Given the description of an element on the screen output the (x, y) to click on. 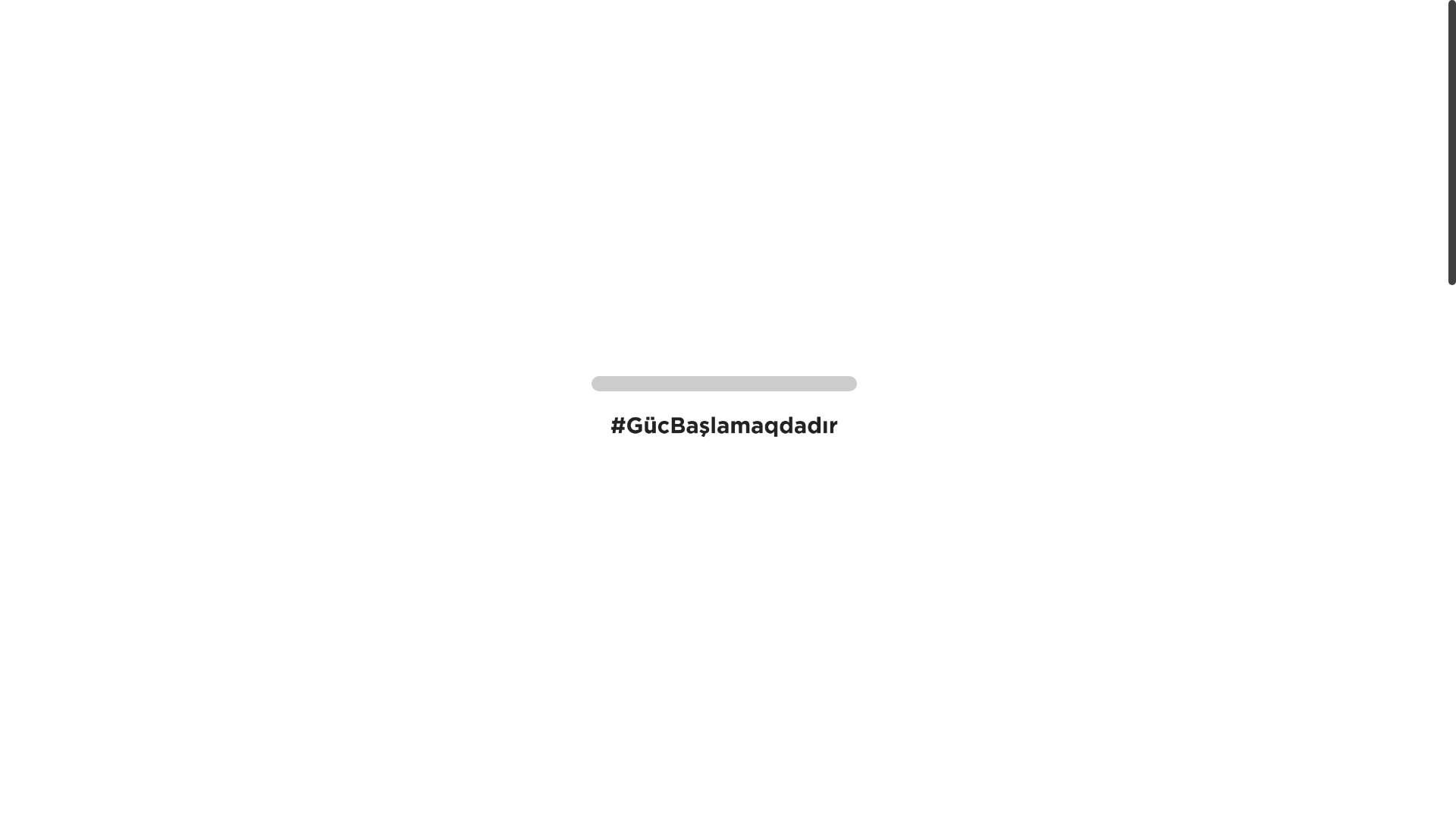
Joerex Element type: text (441, 680)
RU Element type: text (329, 20)
Joerex Element type: text (1256, 324)
